Given the description of an element on the screen output the (x, y) to click on. 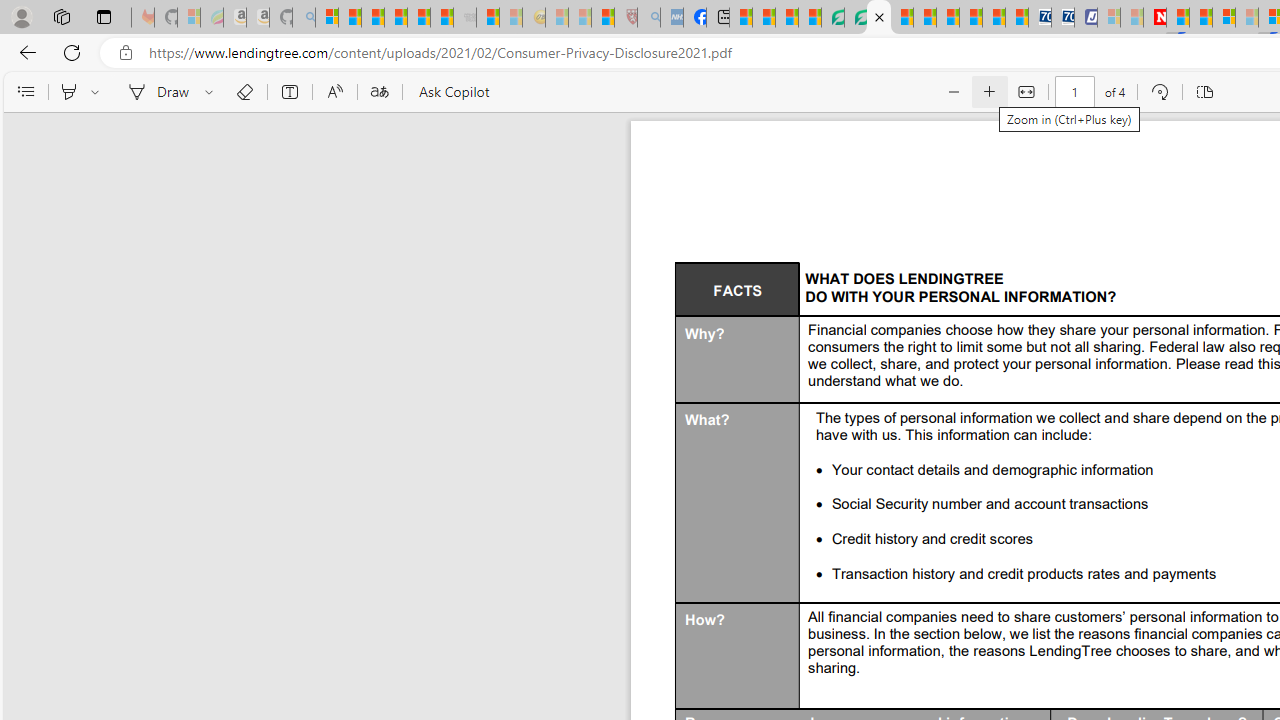
Local - MSN (602, 17)
Page view (1204, 92)
